Given the description of an element on the screen output the (x, y) to click on. 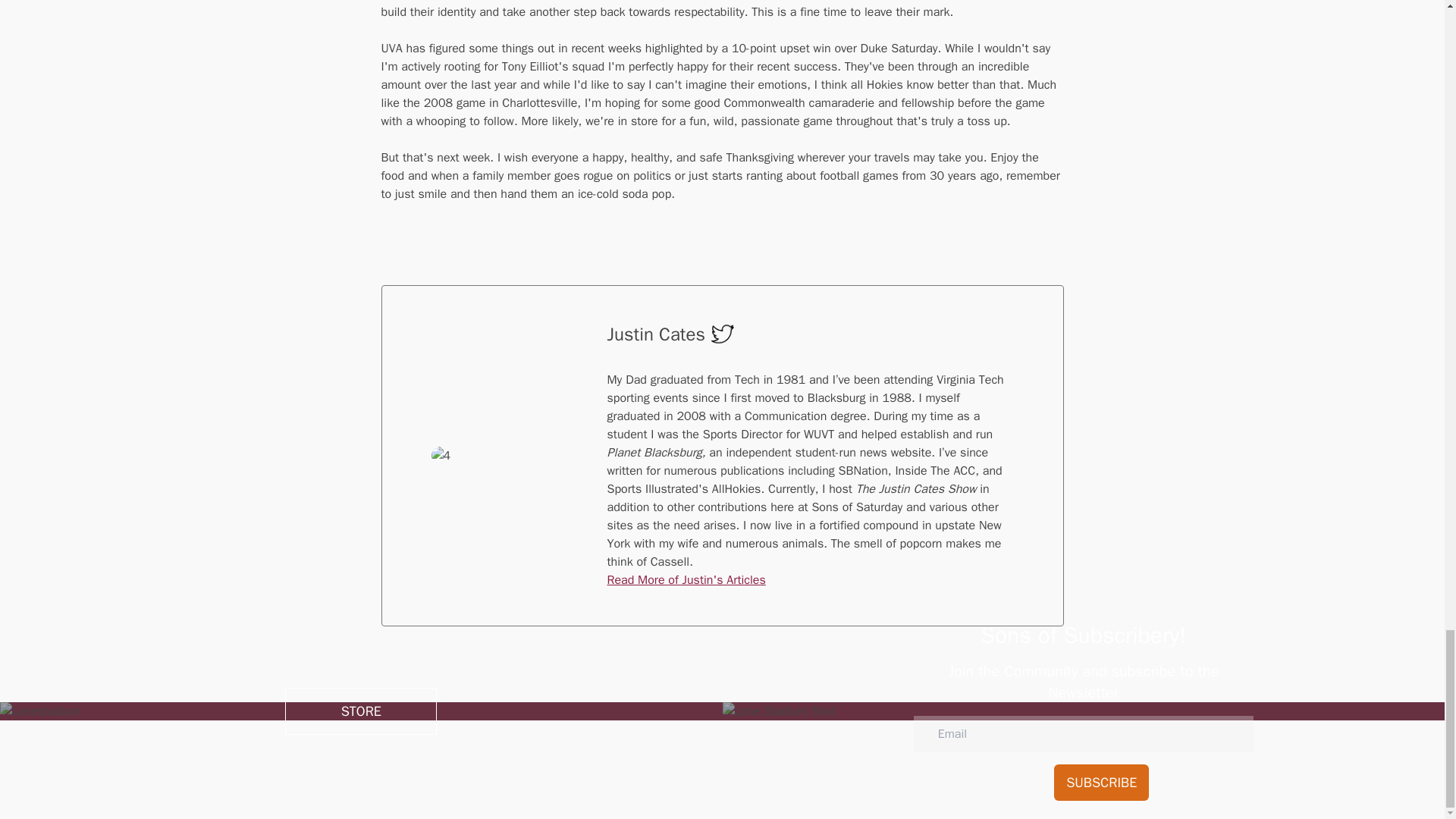
STORE (360, 710)
Read More of Justin's Articles (686, 580)
Justin Cates (655, 333)
Subscribe (1101, 781)
Subscribe (1101, 781)
